Given the description of an element on the screen output the (x, y) to click on. 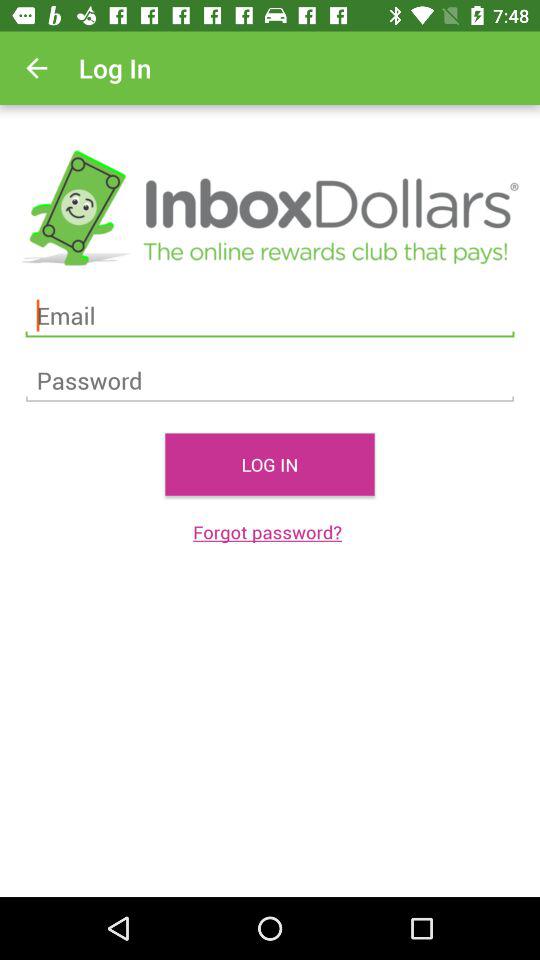
launch the forgot password?  icon (269, 532)
